Given the description of an element on the screen output the (x, y) to click on. 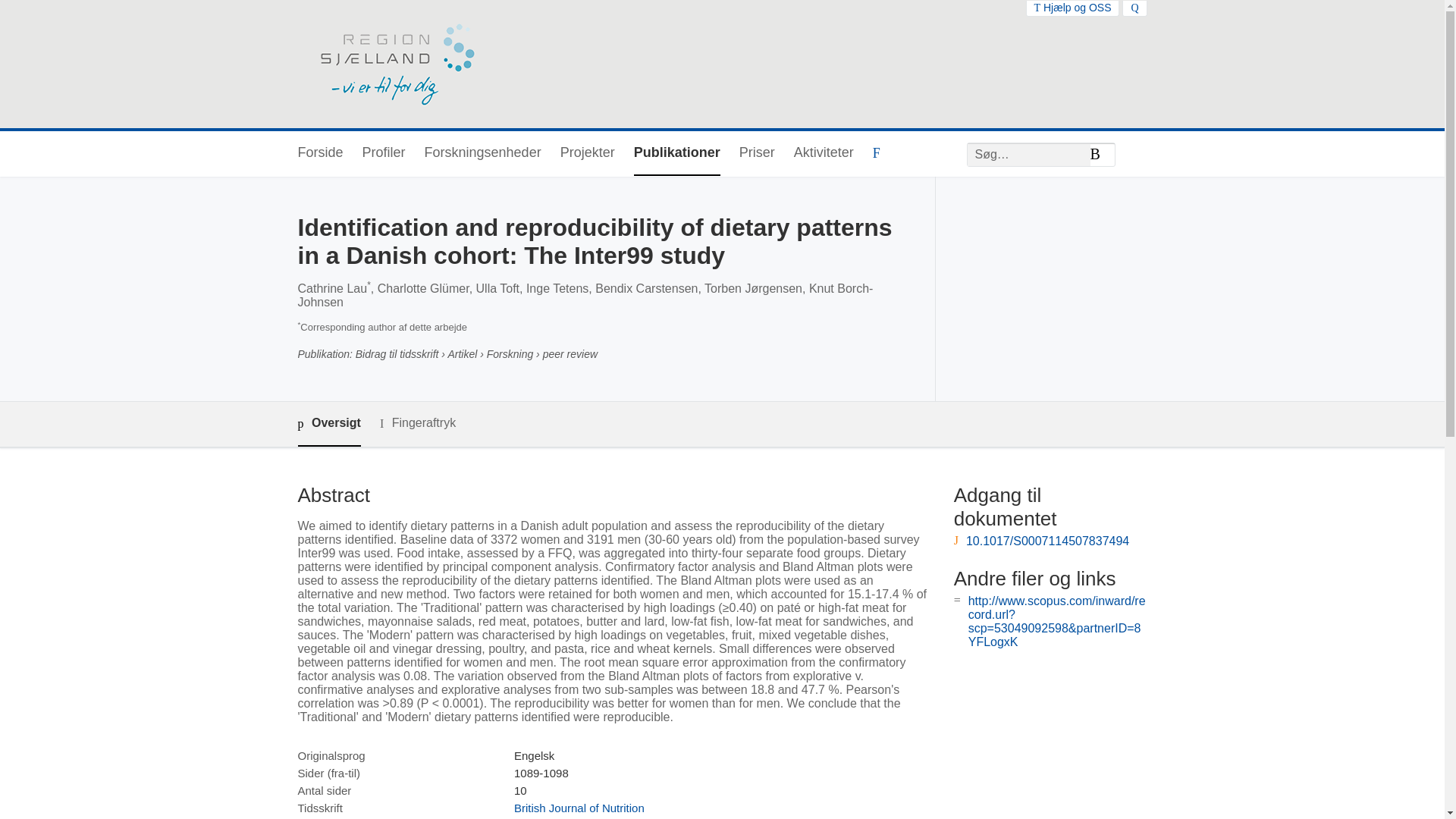
Profiler (384, 153)
Forskningsenheder (483, 153)
Publikationer (676, 153)
Projekter (587, 153)
Forside (319, 153)
Aktiviteter (823, 153)
Oversigt (328, 424)
Fingeraftryk (417, 423)
British Journal of Nutrition (579, 807)
